Given the description of an element on the screen output the (x, y) to click on. 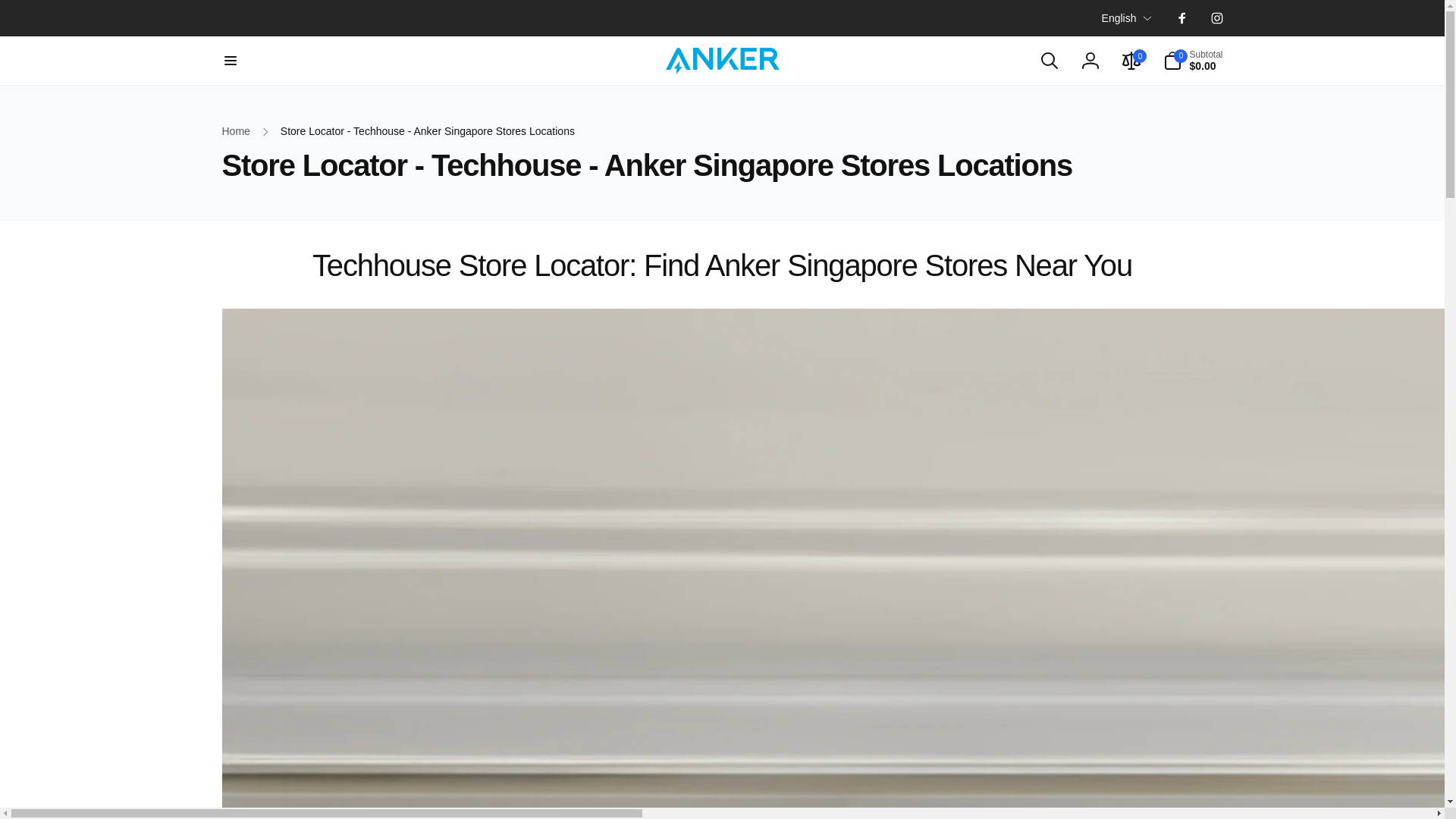
Facebook (1181, 18)
Instagram (1216, 18)
Skip to content (16, 8)
